Given the description of an element on the screen output the (x, y) to click on. 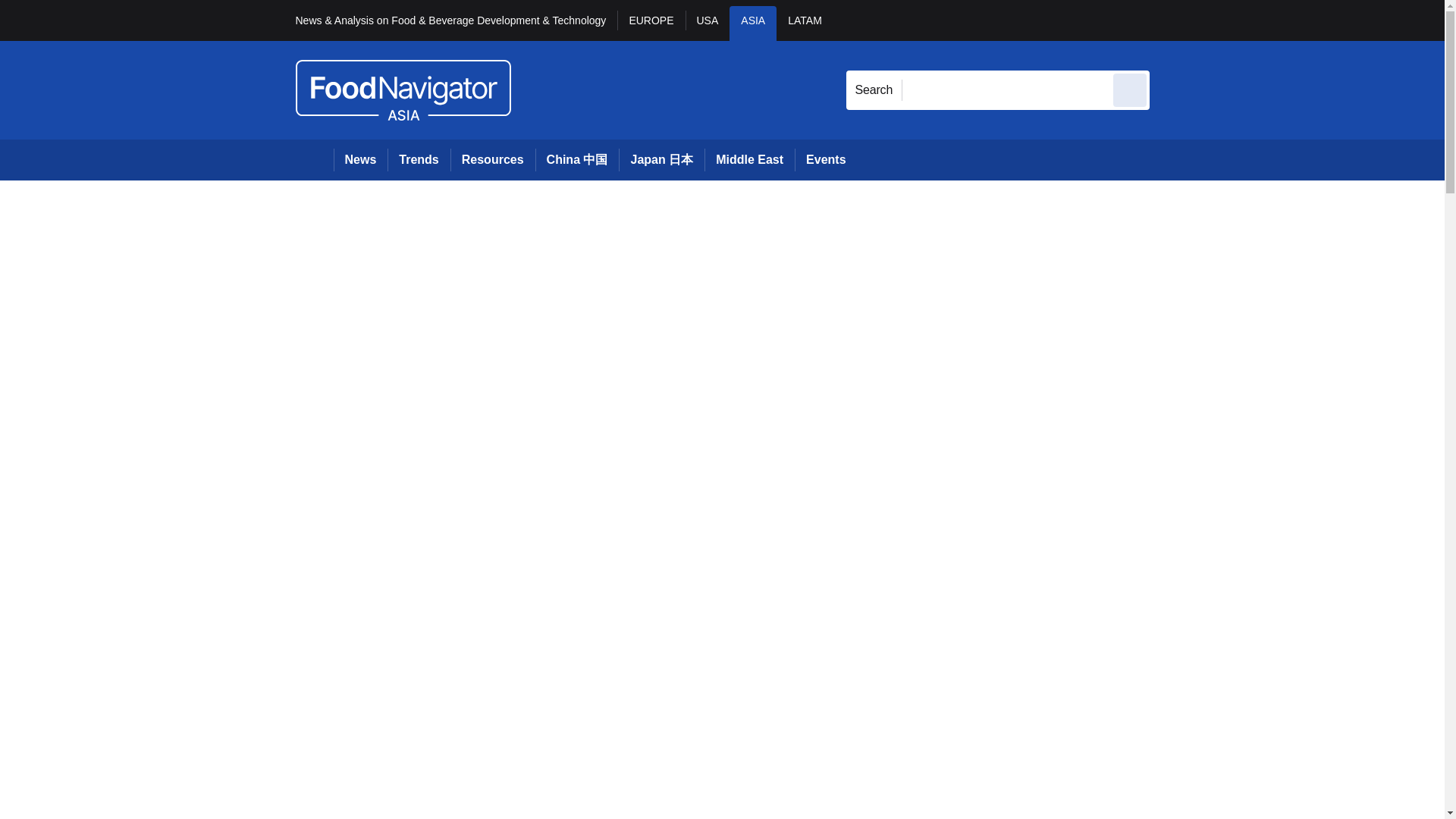
ASIA (752, 22)
FoodNavigator Asia (403, 89)
My account (1256, 20)
Home (314, 159)
Send (1129, 89)
EUROPE (650, 22)
News (360, 159)
USA (707, 22)
Trends (418, 159)
Sign out (1174, 20)
